Given the description of an element on the screen output the (x, y) to click on. 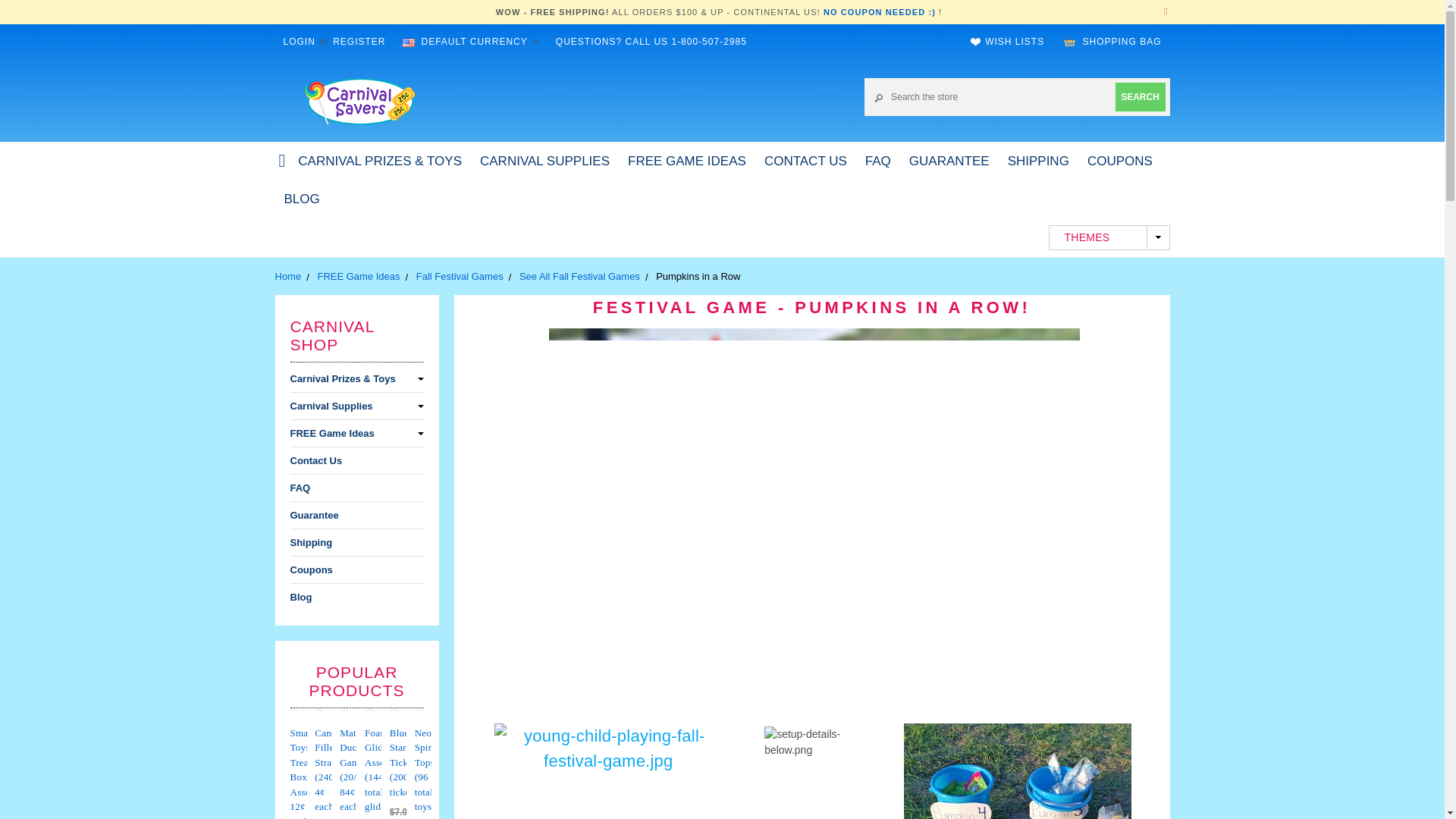
candy straws - bulk carnival candy (318, 712)
Neon Spin Top Small Toy - bulk carnival prize (418, 712)
foam glider novelty toy - carnival supply (369, 712)
View Cart (1068, 41)
Search (1139, 95)
Search (1139, 95)
Blue Star Tickets - 2000 for carnivals - festivals (394, 712)
Carnival Savers (360, 100)
Matching Duck Game (344, 712)
Small Toy Assortment (293, 712)
